Given the description of an element on the screen output the (x, y) to click on. 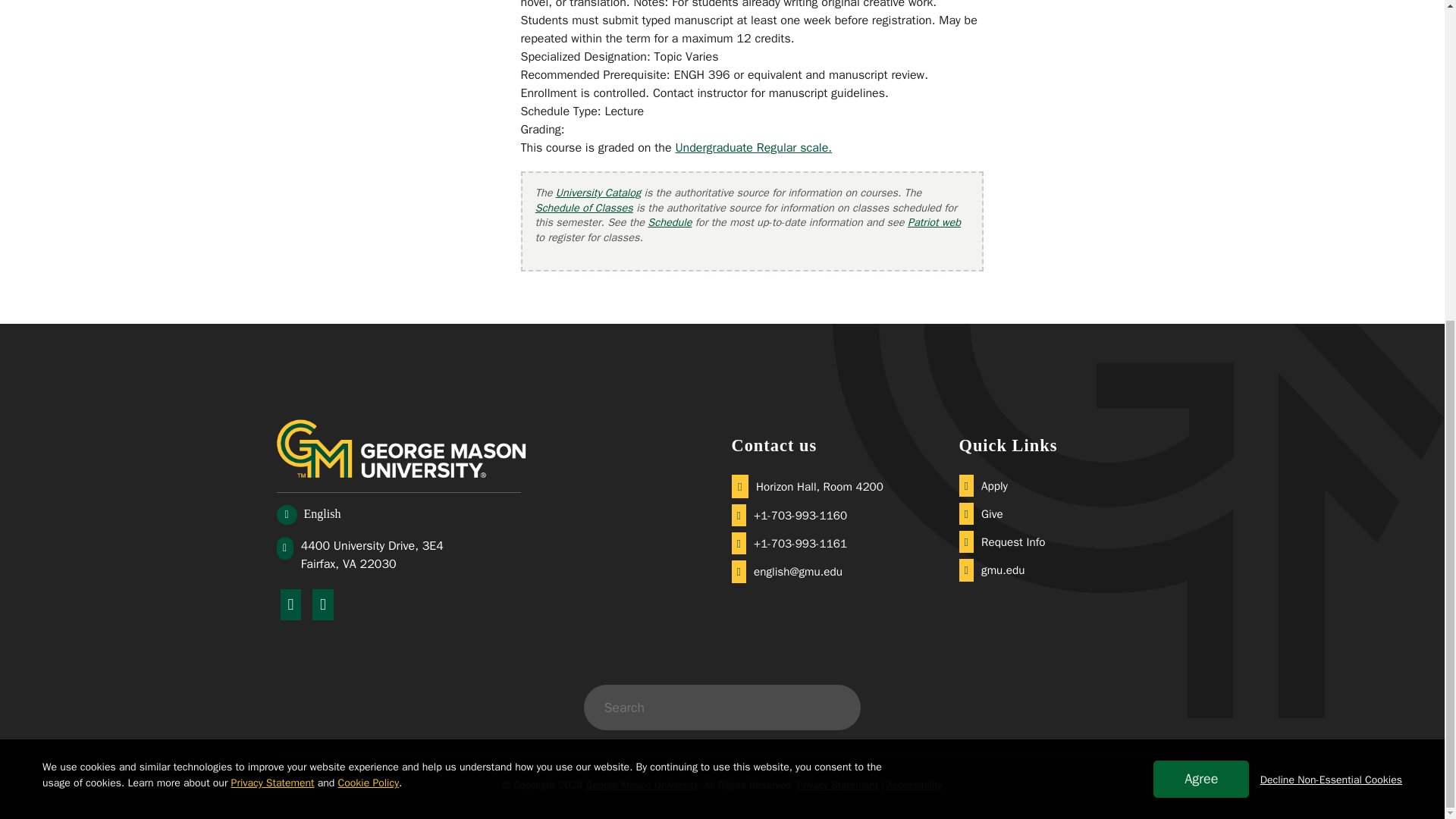
Decline Non-Essential Cookies (1331, 258)
George Mason University Cookie Policy (367, 261)
Cookie Policy (367, 261)
Privacy Statement (272, 261)
George Mason University Privacy Statement (272, 261)
Agree (1201, 257)
